Given the description of an element on the screen output the (x, y) to click on. 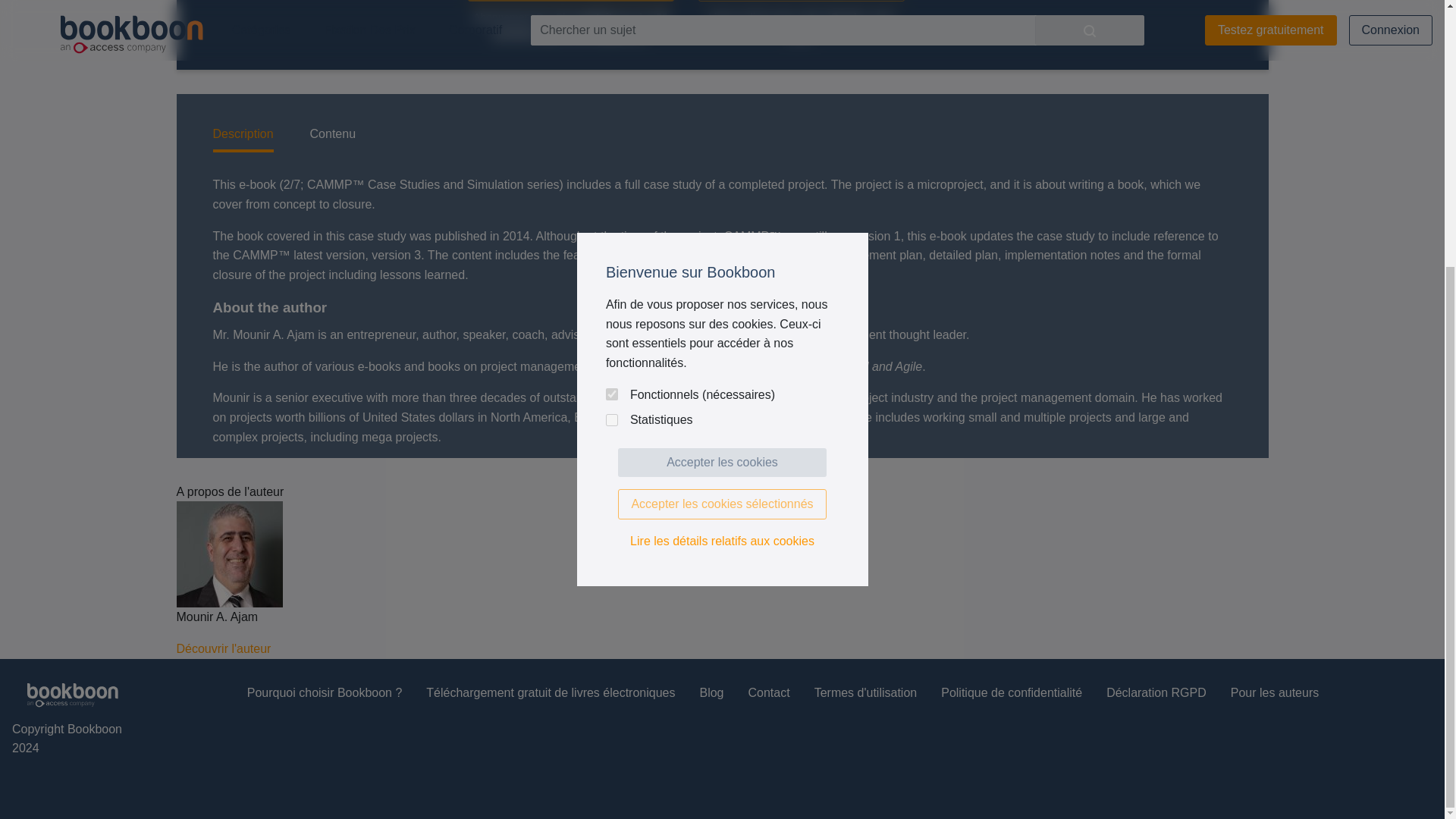
FUNCTIONAL (611, 7)
STATISTICAL (611, 33)
Accepter les cookies (722, 75)
